Given the description of an element on the screen output the (x, y) to click on. 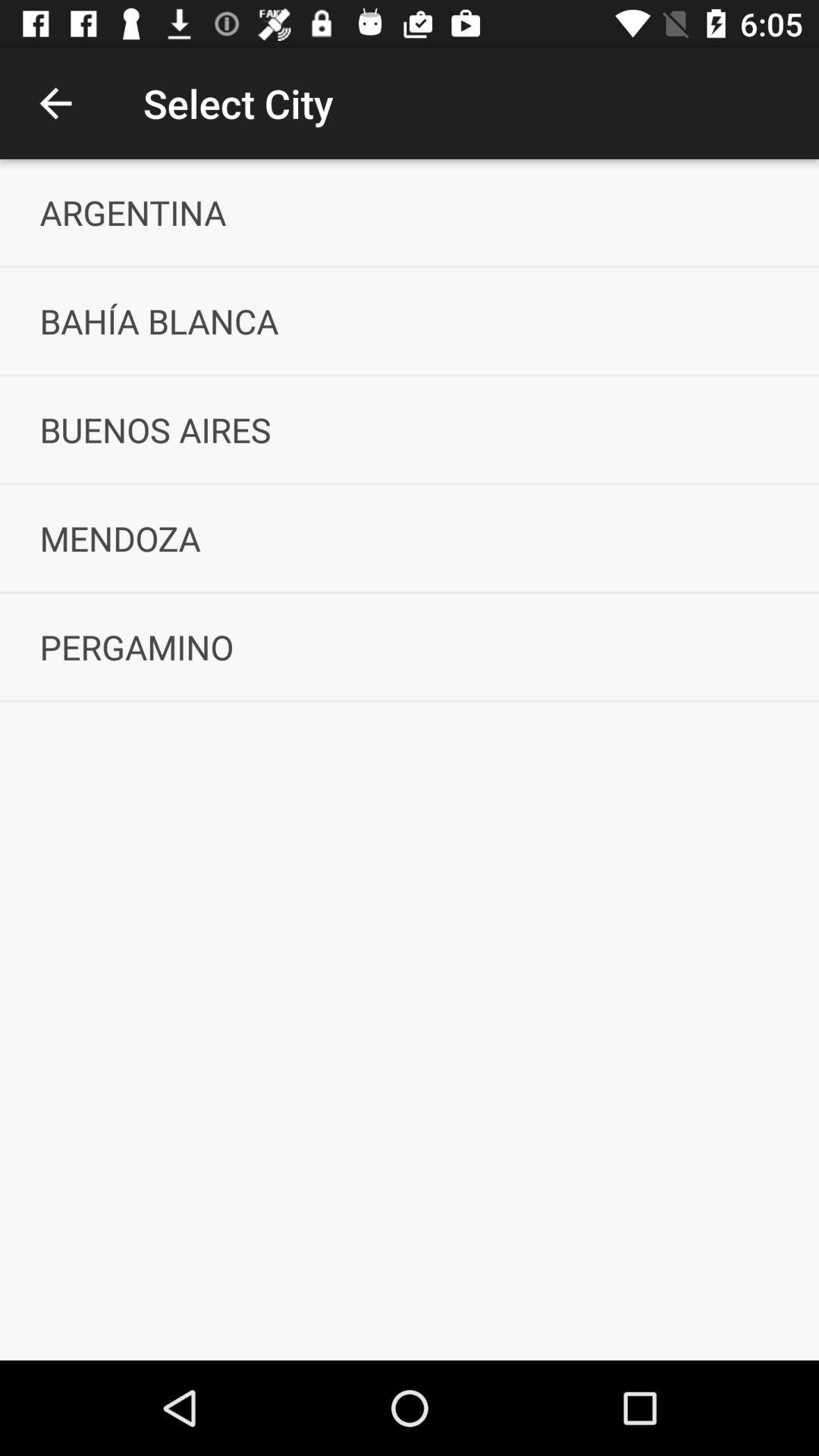
turn off icon next to select city (55, 103)
